Given the description of an element on the screen output the (x, y) to click on. 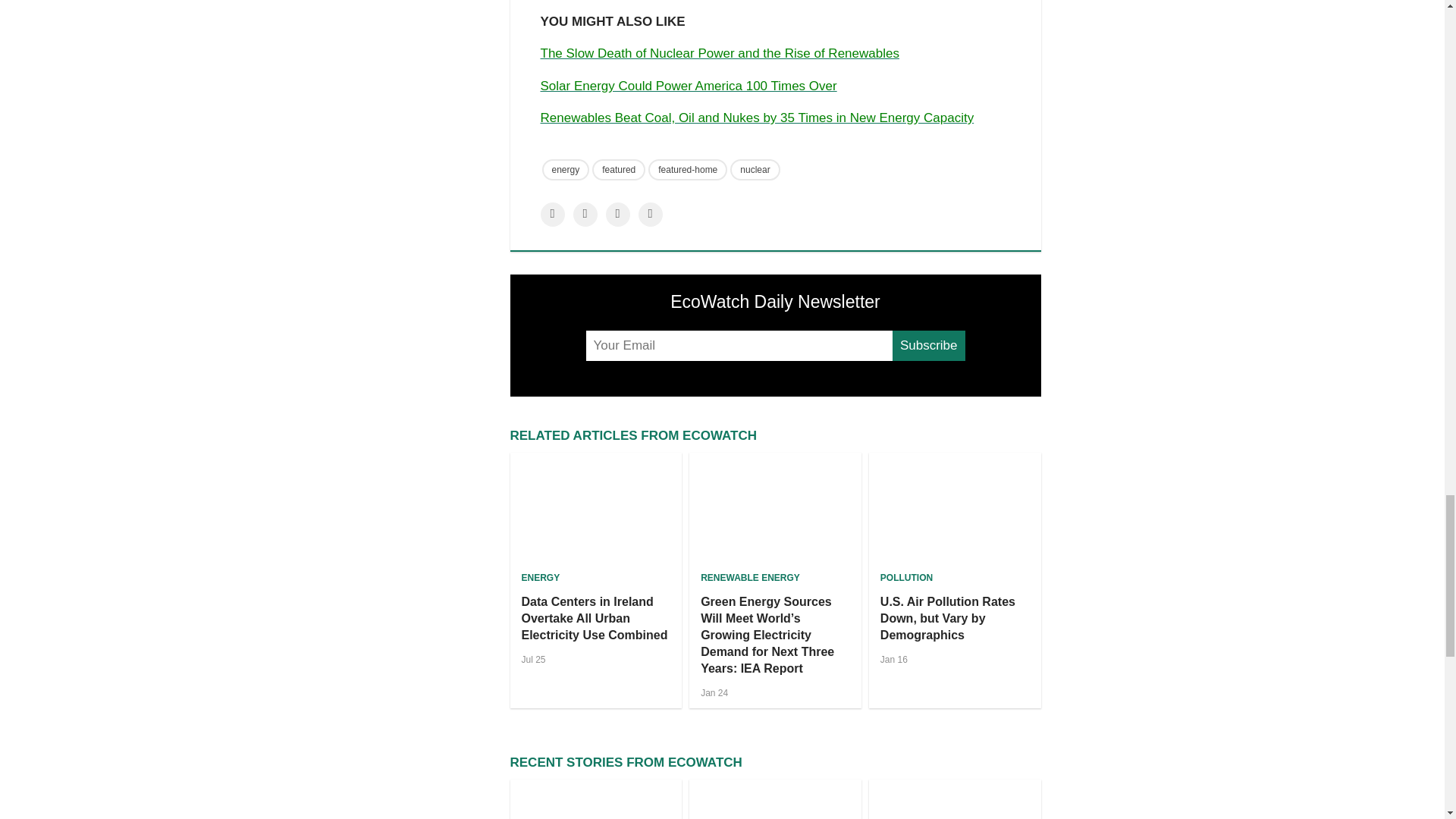
Subscribe (928, 345)
